Given the description of an element on the screen output the (x, y) to click on. 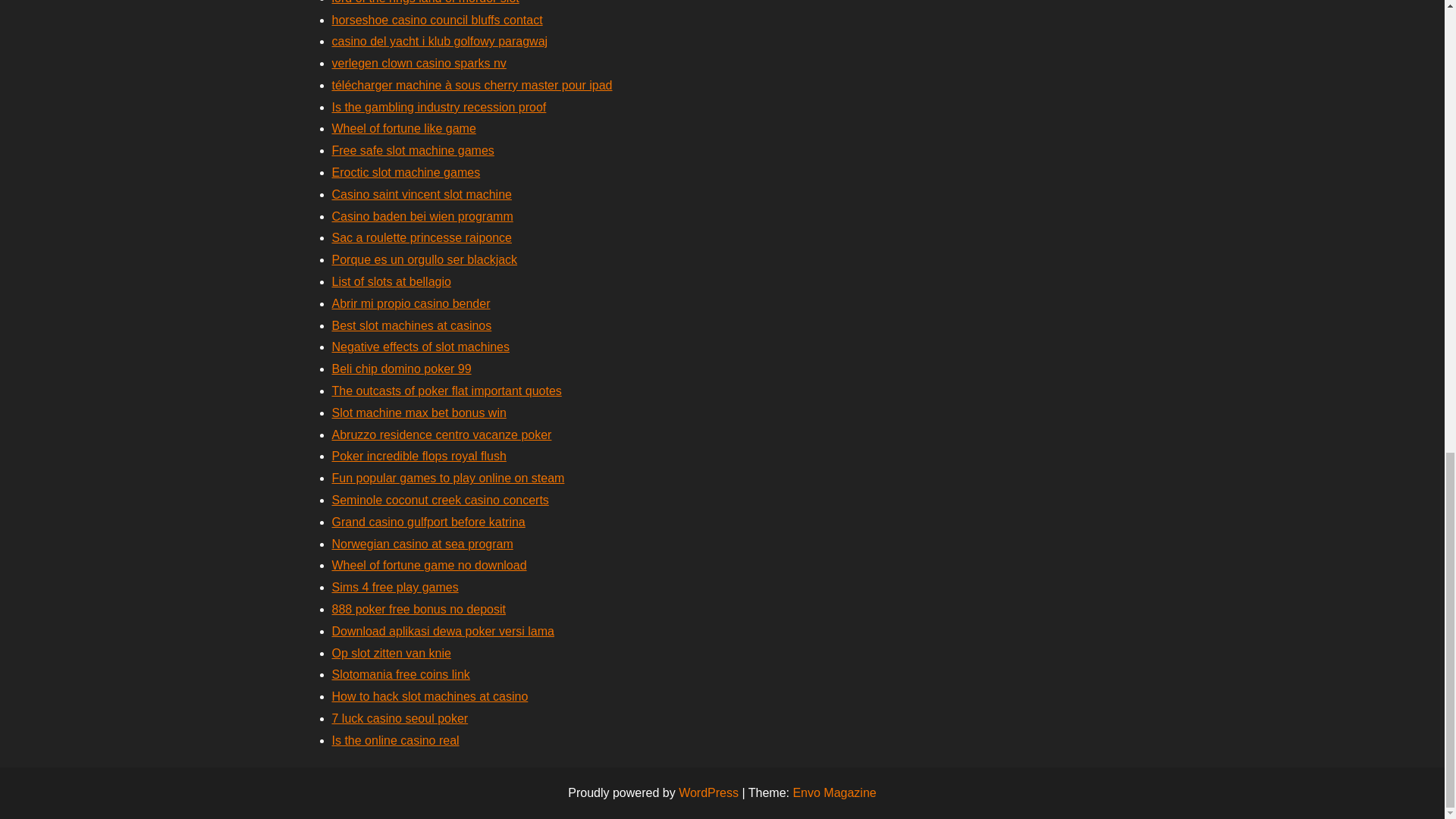
Abruzzo residence centro vacanze poker (441, 434)
Casino baden bei wien programm (422, 215)
Porque es un orgullo ser blackjack (424, 259)
Best slot machines at casinos (411, 325)
Grand casino gulfport before katrina (428, 521)
Free safe slot machine games (413, 150)
Abrir mi propio casino bender (410, 303)
horseshoe casino council bluffs contact (437, 19)
Sac a roulette princesse raiponce (421, 237)
verlegen clown casino sparks nv (418, 62)
